Given the description of an element on the screen output the (x, y) to click on. 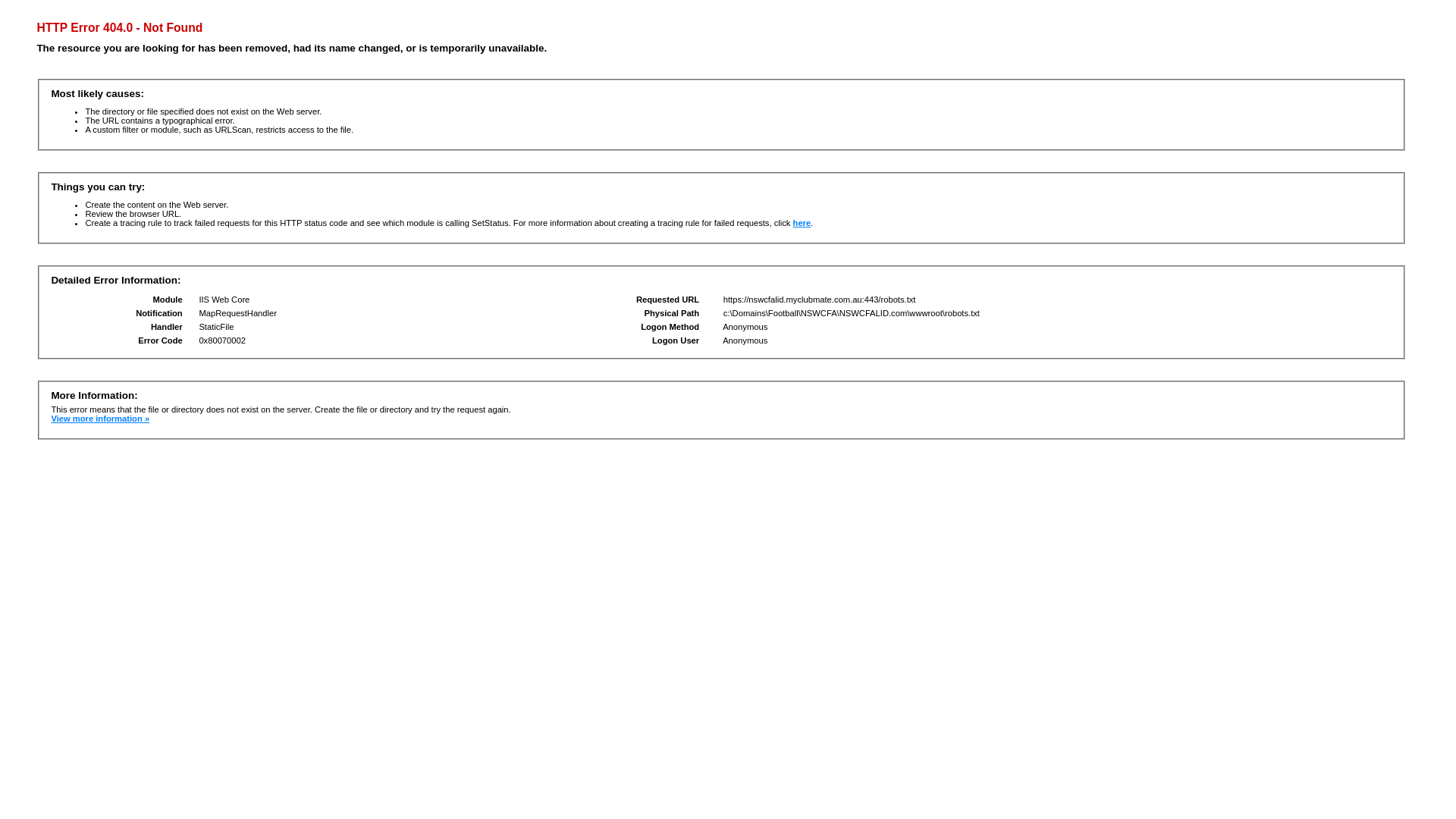
here Element type: text (802, 222)
